Given the description of an element on the screen output the (x, y) to click on. 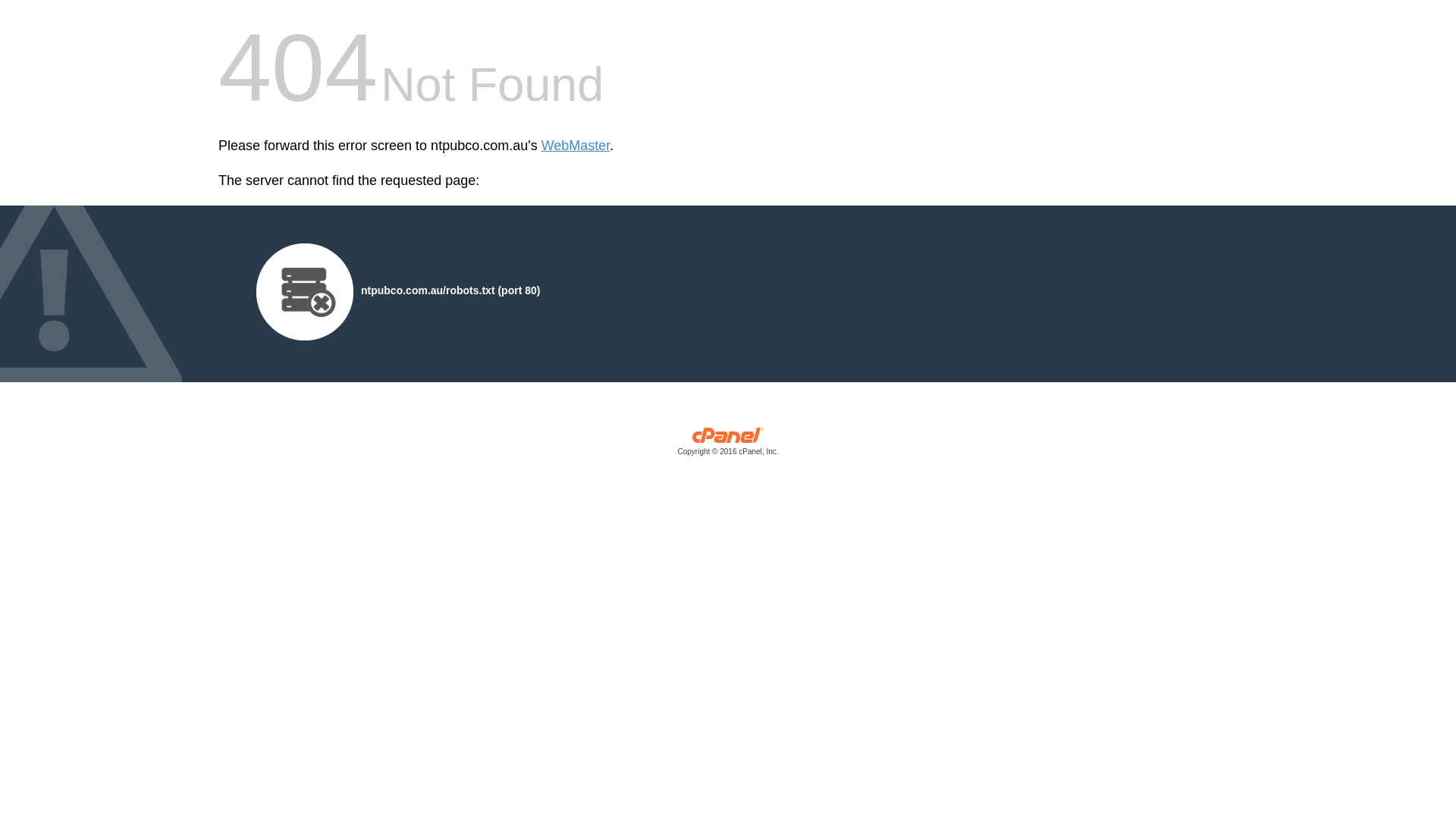
WebMaster Element type: text (575, 145)
